Given the description of an element on the screen output the (x, y) to click on. 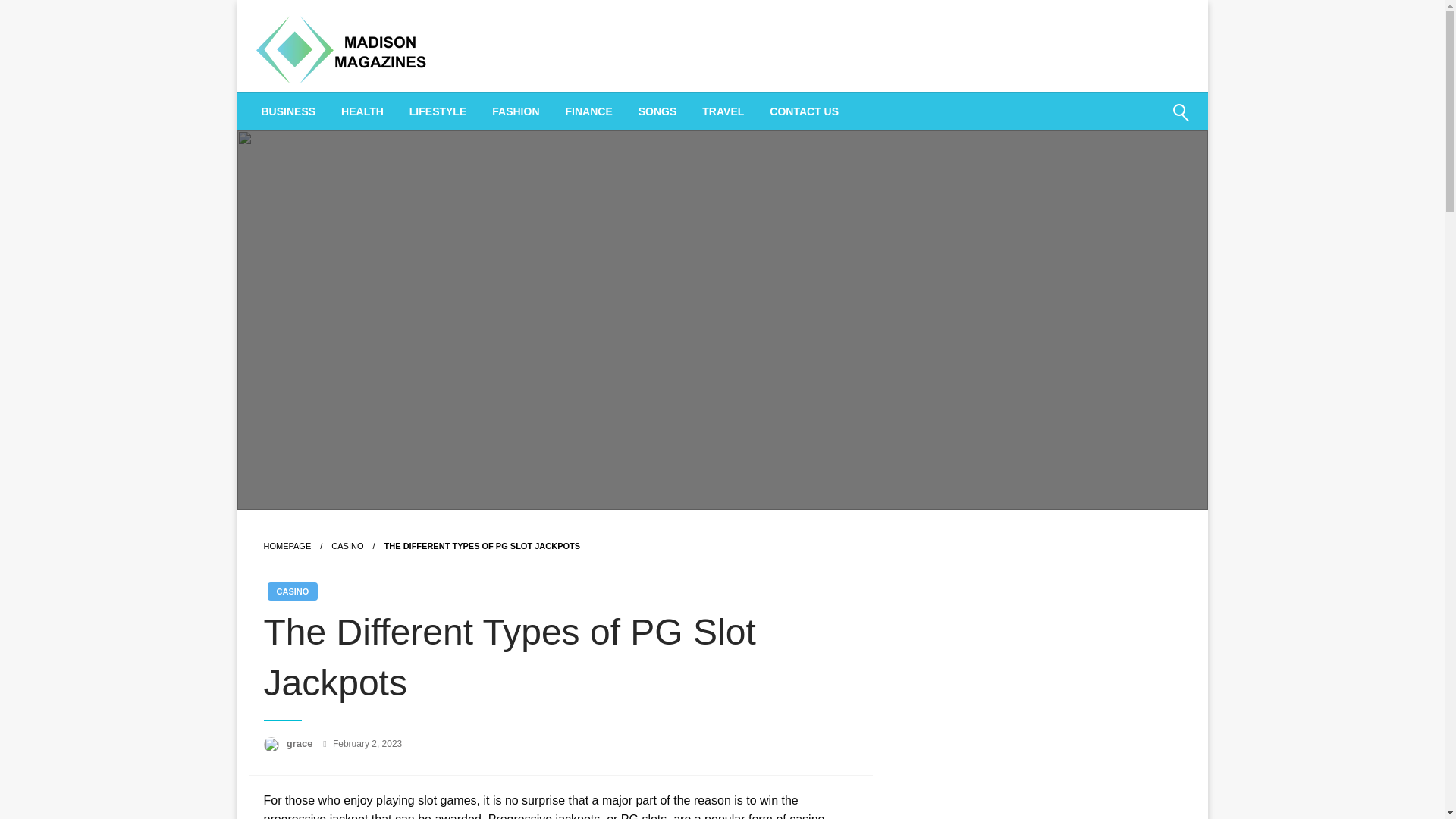
CASINO (291, 591)
TRAVEL (722, 111)
February 2, 2023 (367, 743)
FASHION (515, 111)
HOMEPAGE (287, 545)
grace (300, 743)
The Different Types of PG Slot Jackpots (482, 545)
CASINO (346, 545)
Search (1144, 122)
SONGS (658, 111)
HEALTH (362, 111)
CONTACT US (804, 111)
grace (300, 743)
FINANCE (587, 111)
Homepage (287, 545)
